Given the description of an element on the screen output the (x, y) to click on. 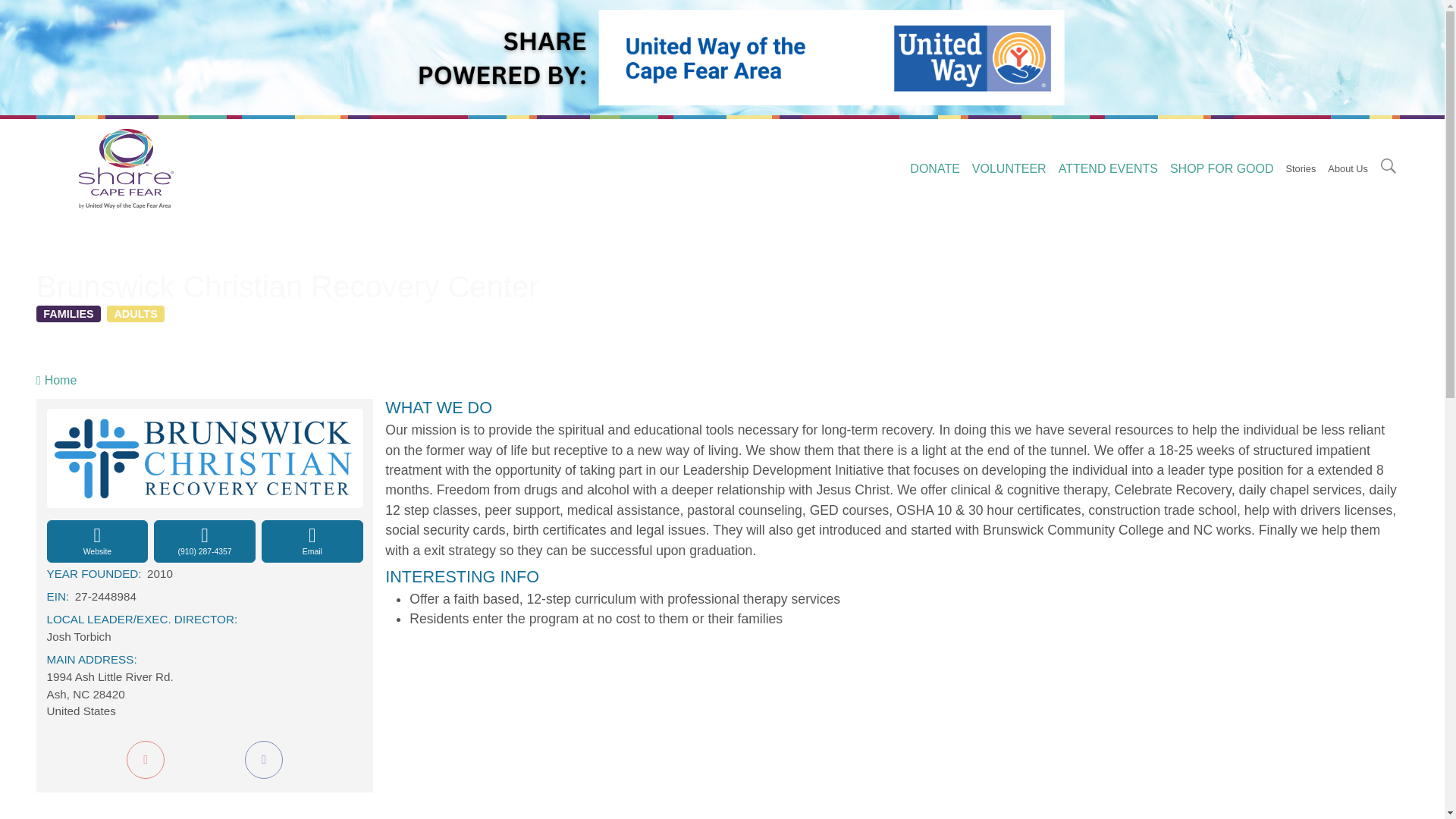
FAMILIES (68, 313)
Website (97, 541)
SHOP FOR GOOD (1221, 168)
Email (312, 541)
Stories (1300, 168)
ADULTS (135, 313)
VOLUNTEER (1009, 168)
About Us (1348, 168)
Home (132, 168)
DONATE (934, 168)
